Given the description of an element on the screen output the (x, y) to click on. 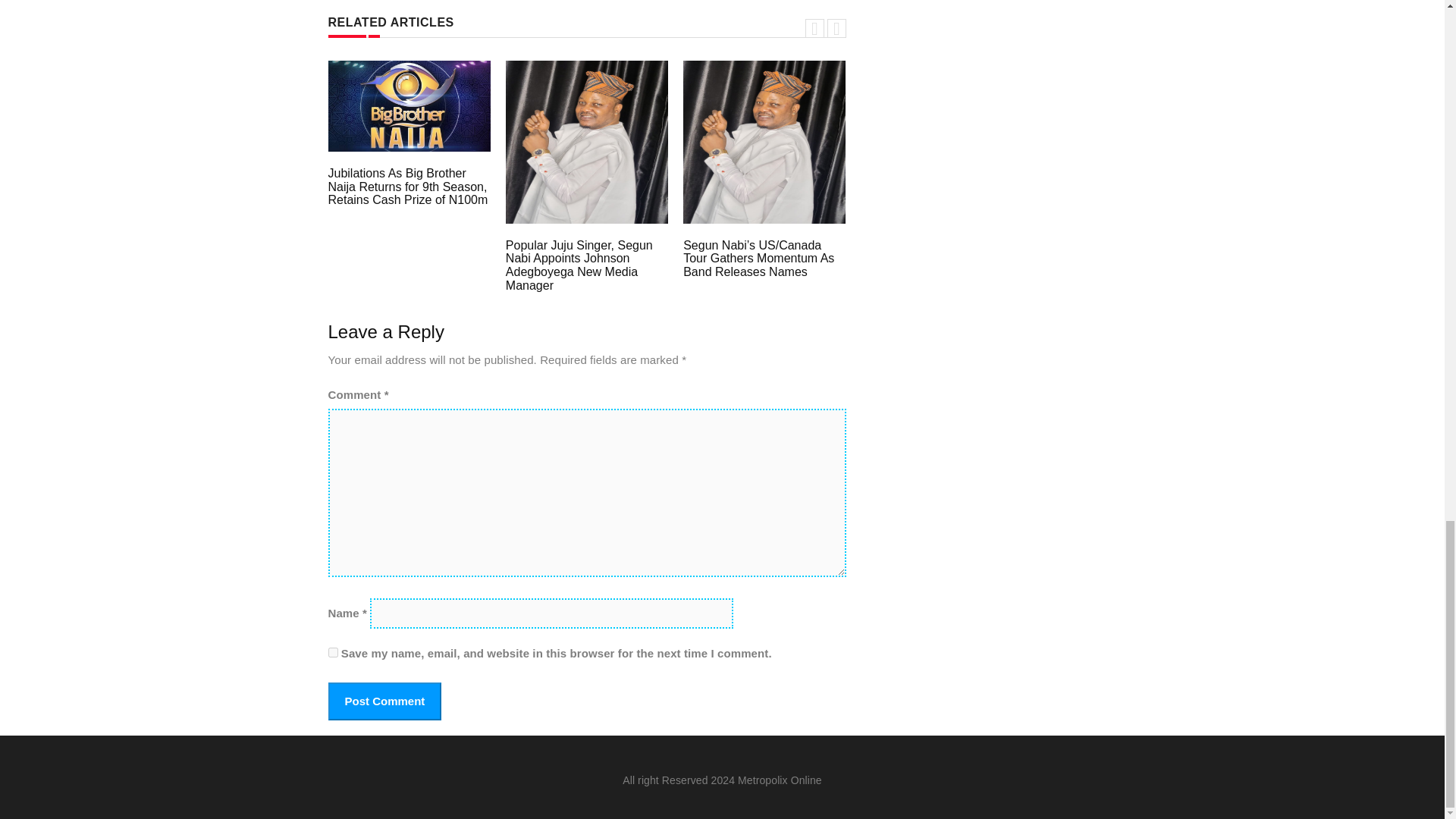
Post Comment (384, 701)
yes (332, 652)
